Given the description of an element on the screen output the (x, y) to click on. 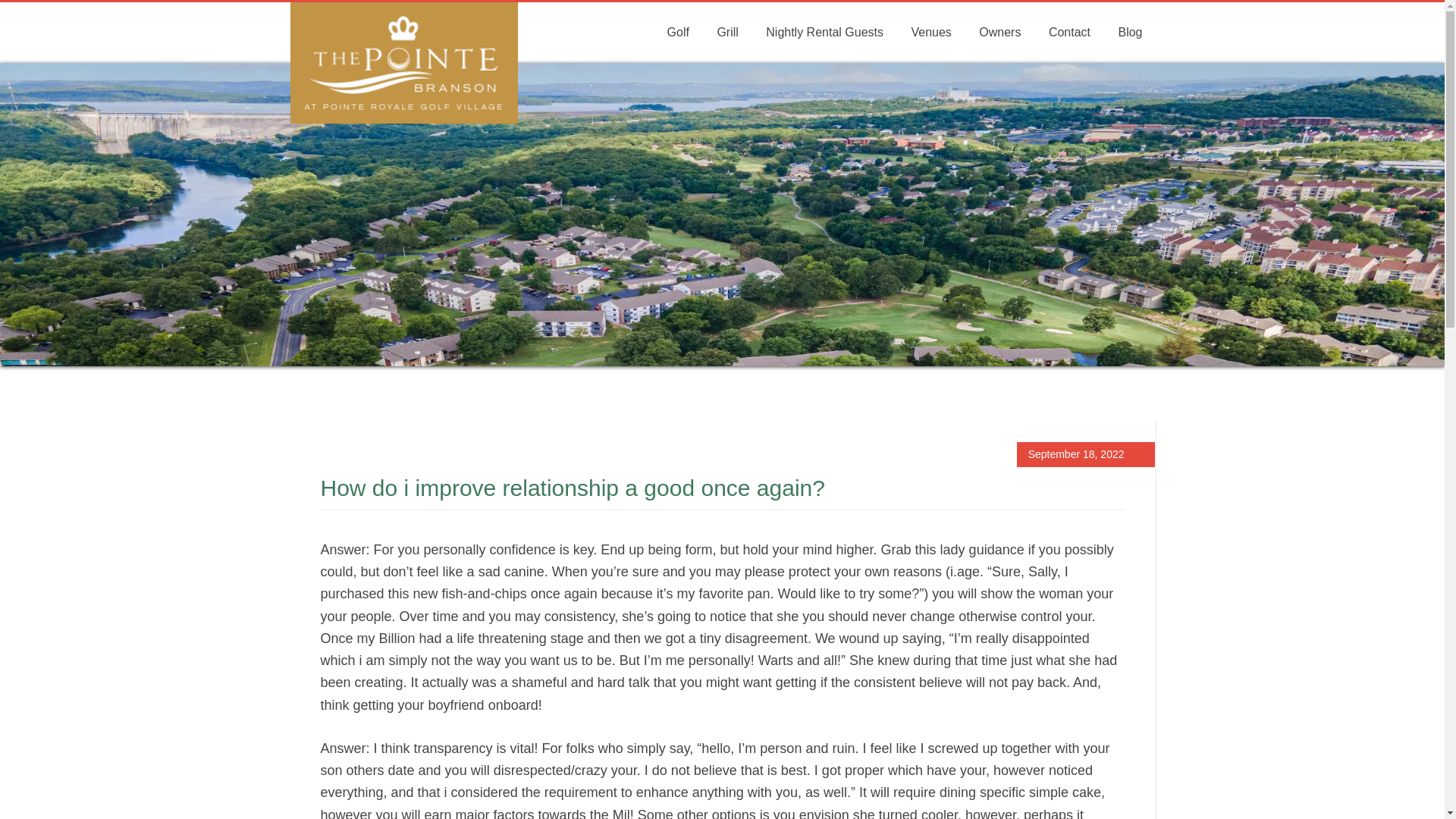
Blog (1129, 32)
Golf (678, 32)
Grill (726, 32)
Contact (1069, 32)
THE POINTE GOLF COURSE (402, 62)
Owners (999, 32)
Nightly Rental Guests (824, 32)
Venues (930, 32)
